Given the description of an element on the screen output the (x, y) to click on. 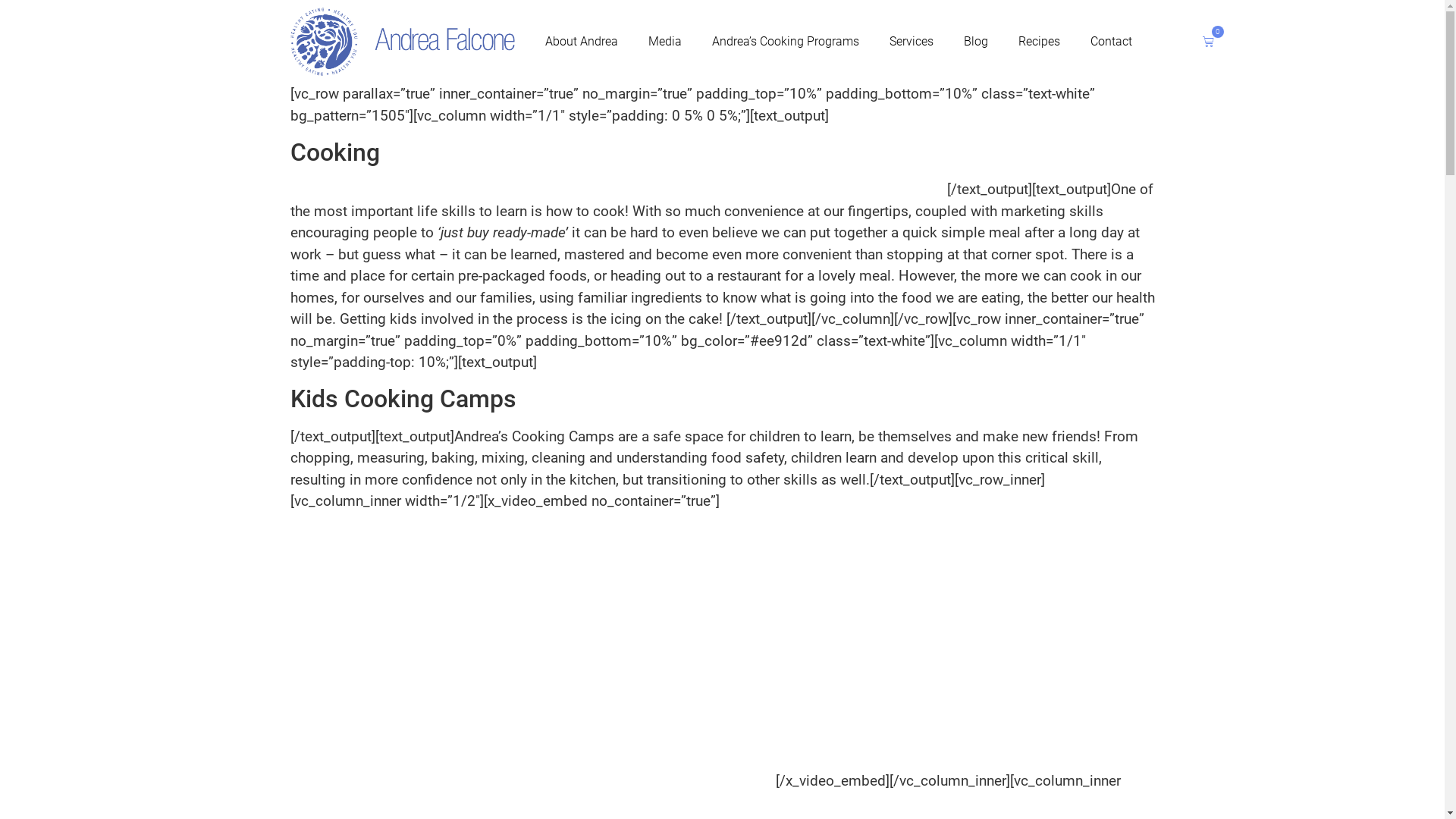
0 Element type: text (1208, 41)
Recipes Element type: text (1039, 41)
Media Element type: text (664, 41)
About Andrea Element type: text (581, 41)
Blog Element type: text (975, 41)
Contact Element type: text (1111, 41)
Services Element type: text (911, 41)
